Given the description of an element on the screen output the (x, y) to click on. 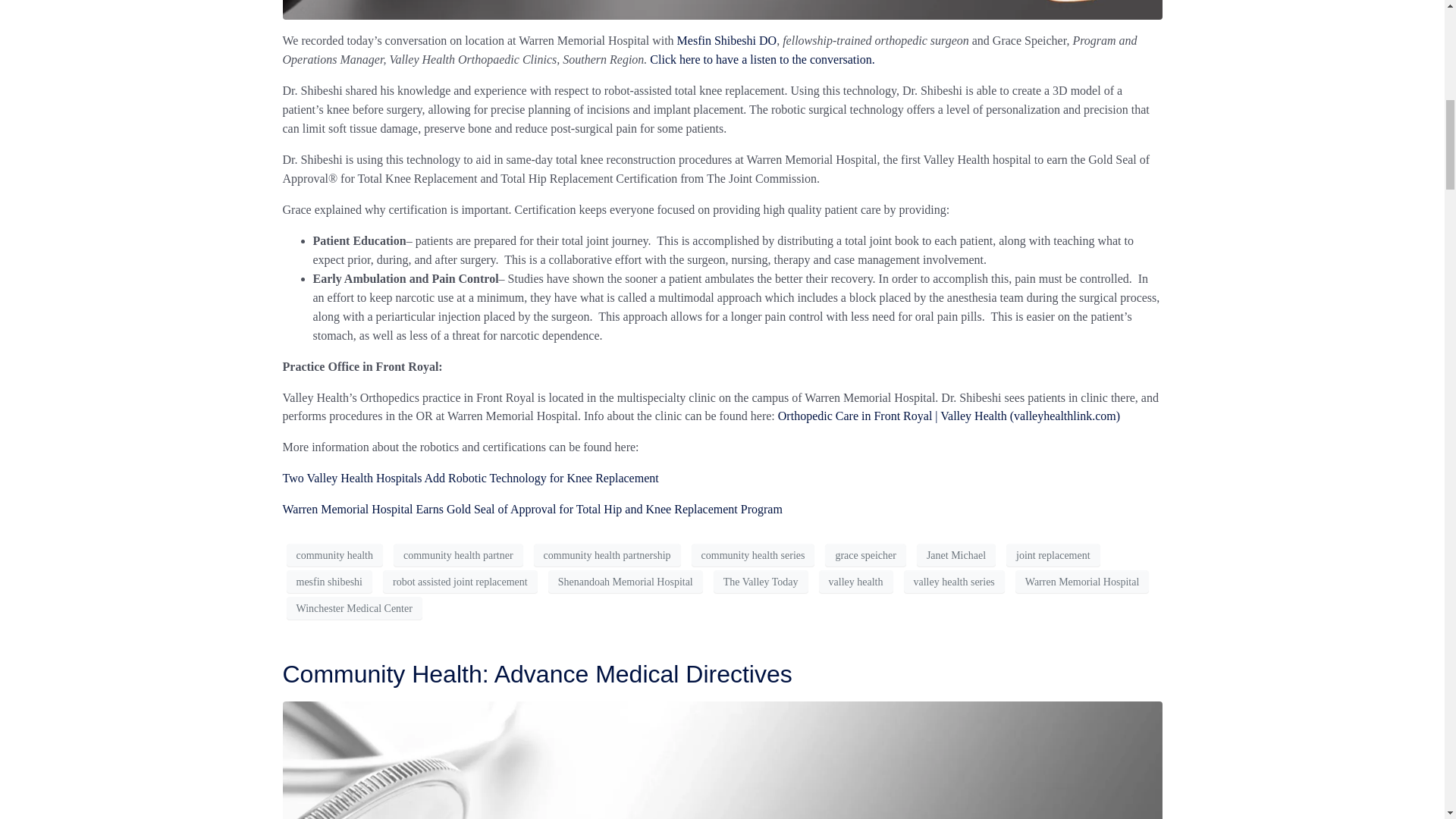
Community Health: Advance Medical Directives (537, 673)
